Given the description of an element on the screen output the (x, y) to click on. 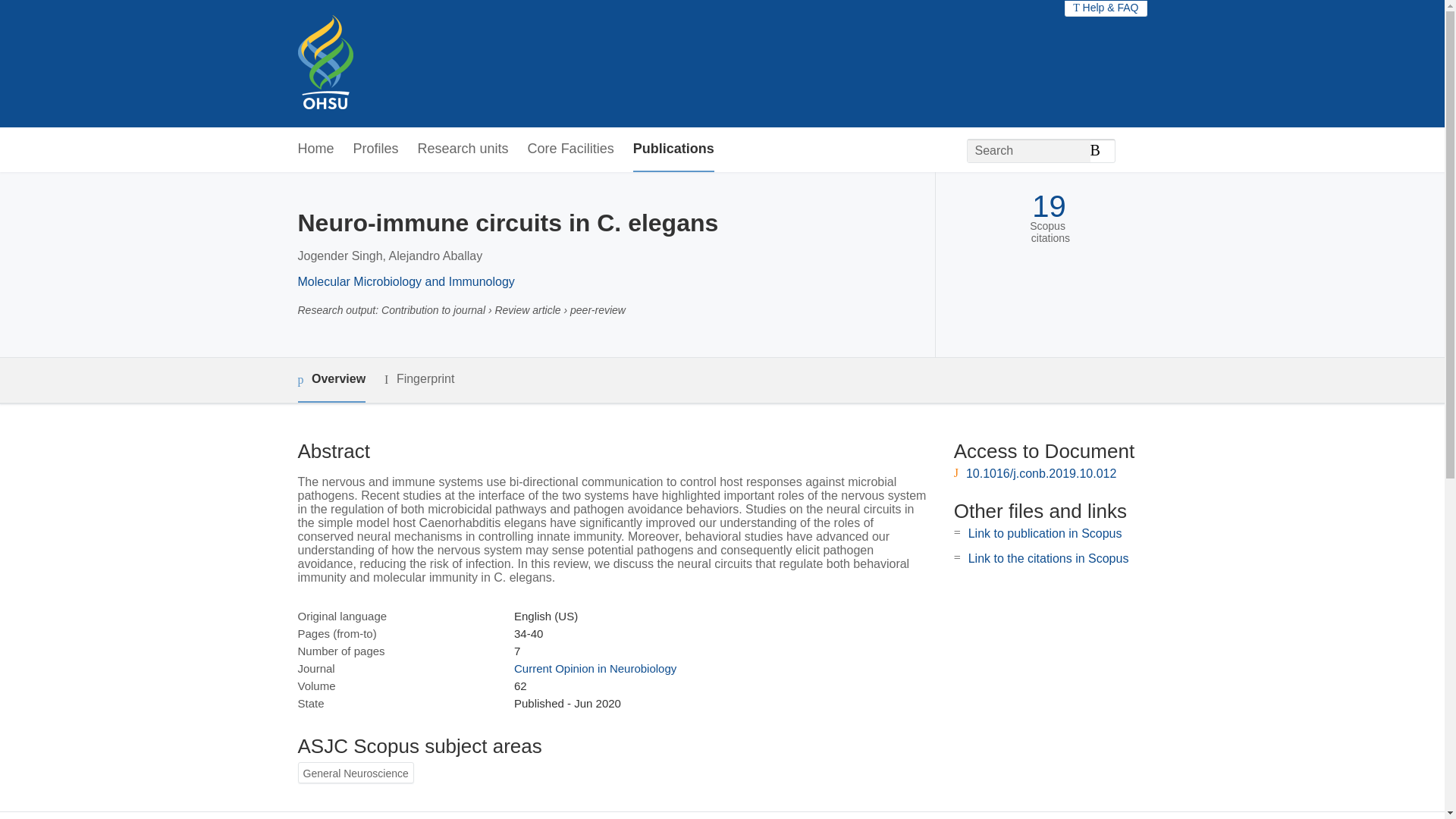
Publications (673, 149)
Link to the citations in Scopus (1048, 558)
Current Opinion in Neurobiology (595, 667)
Overview (331, 379)
Molecular Microbiology and Immunology (405, 281)
Research units (462, 149)
Link to publication in Scopus (1045, 533)
19 (1048, 206)
Profiles (375, 149)
Fingerprint (419, 379)
Core Facilities (570, 149)
